Given the description of an element on the screen output the (x, y) to click on. 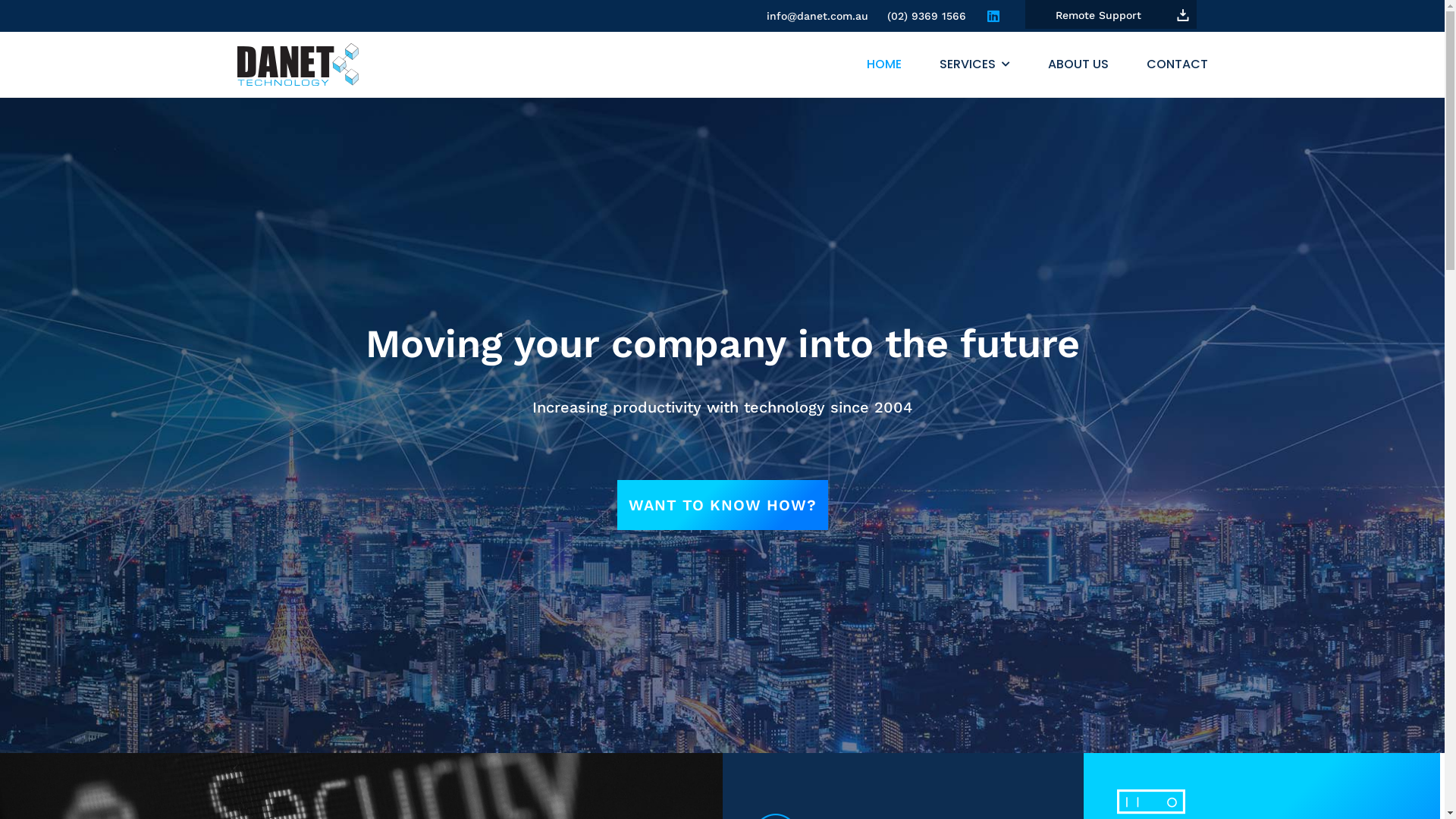
HOME Element type: text (864, 64)
info@danet.com.au Element type: text (817, 15)
CONTACT Element type: text (1158, 64)
WANT TO KNOW HOW? Element type: text (722, 505)
ABOUT US Element type: text (1059, 64)
SERVICES   Element type: text (954, 64)
(02) 9369 1566 Element type: text (926, 15)
